Given the description of an element on the screen output the (x, y) to click on. 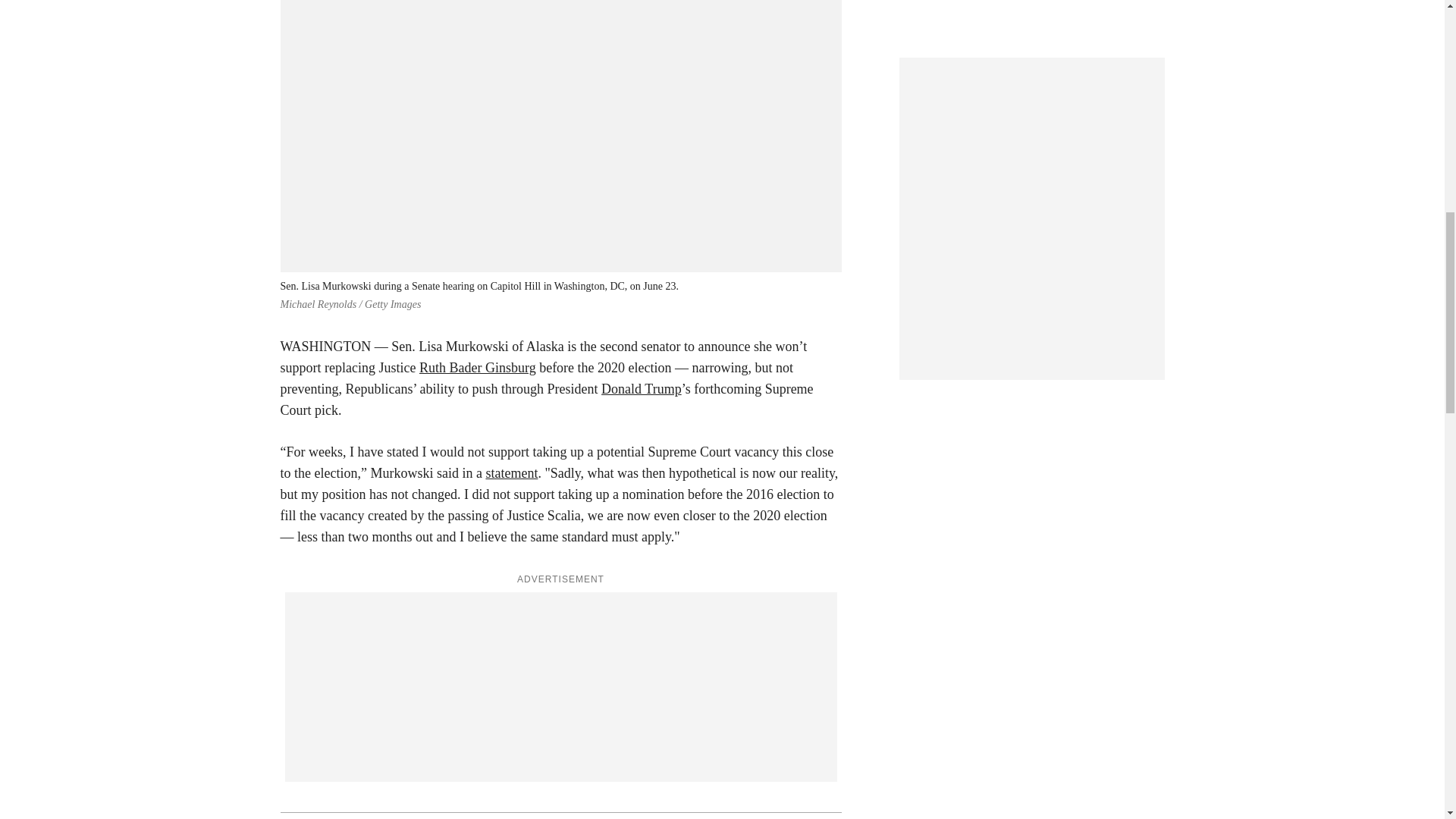
statement (510, 473)
Ruth Bader Ginsburg (477, 367)
Donald Trump (641, 388)
